Given the description of an element on the screen output the (x, y) to click on. 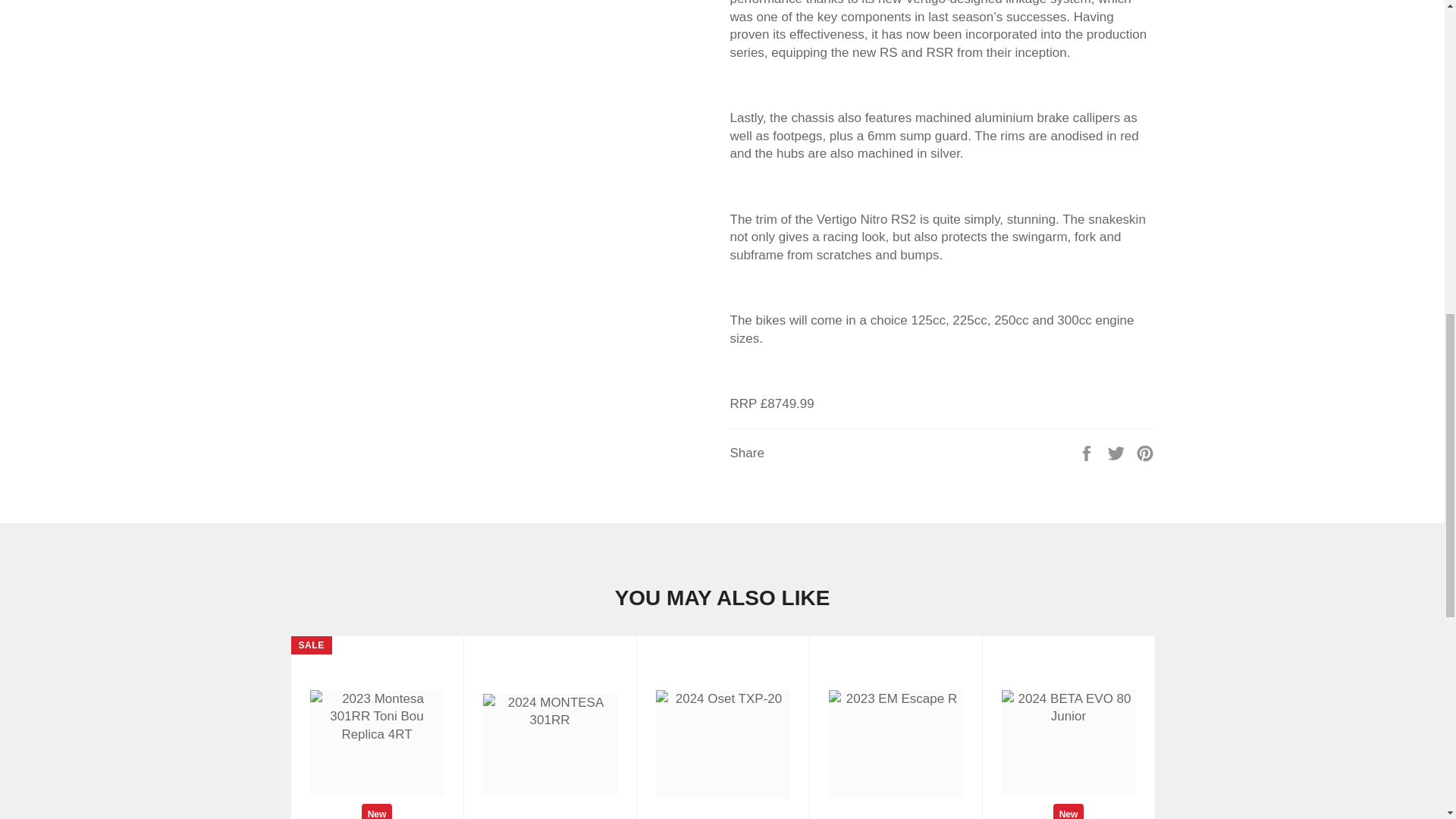
Share on Facebook (1088, 452)
Pin on Pinterest (1144, 452)
Tweet on Twitter (1117, 452)
